Given the description of an element on the screen output the (x, y) to click on. 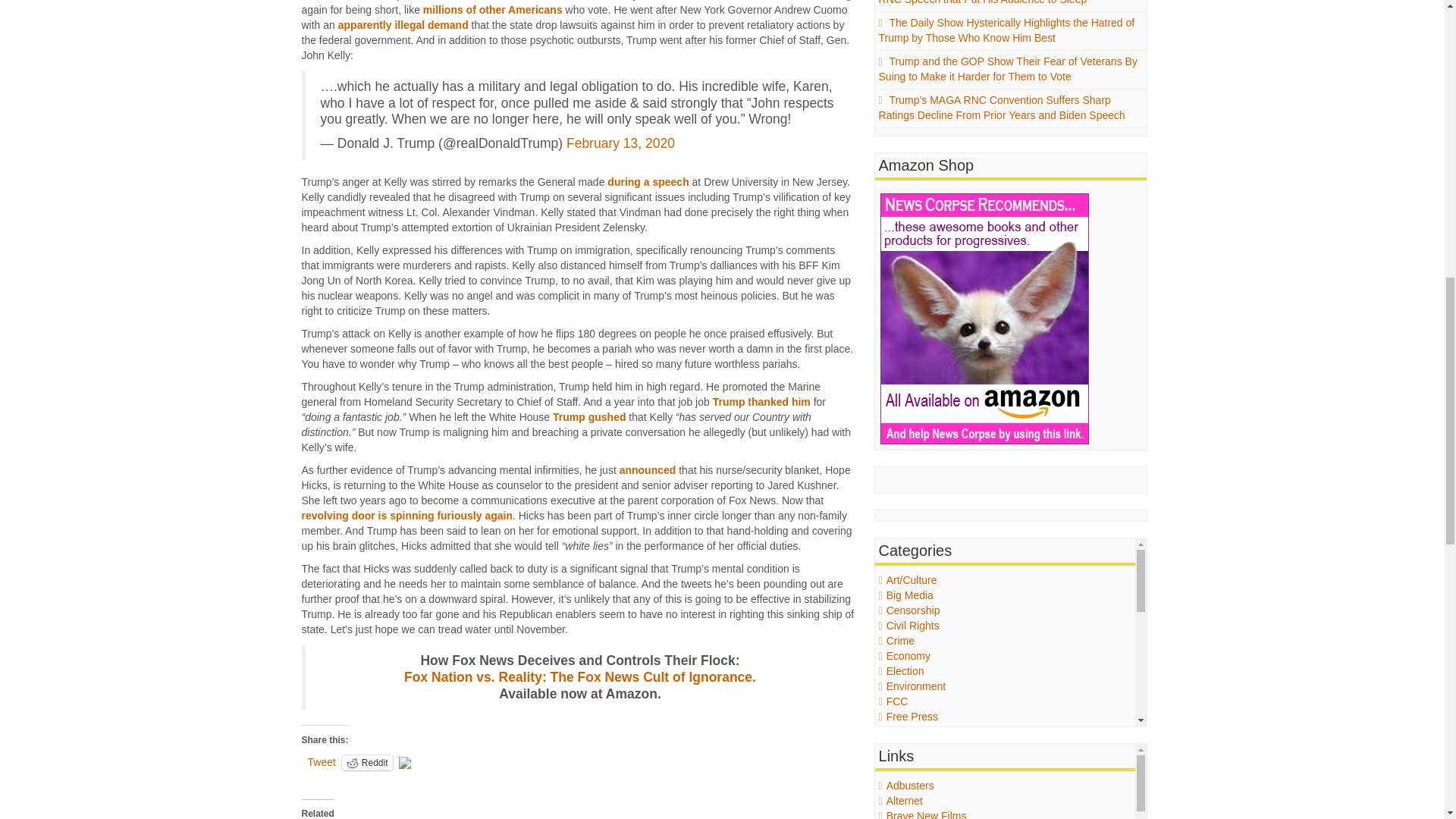
revolving door is spinning furiously again (406, 515)
Trump gushed (589, 417)
during a speech (647, 182)
February 13, 2020 (620, 142)
Fox Nation vs. Reality: The Fox News Cult of Ignorance. (579, 676)
Tweet (321, 762)
announced (648, 469)
millions of other Americans (492, 9)
Click to share on Reddit (367, 762)
apparently illegal demand (402, 24)
Trump thanked him (761, 401)
